Given the description of an element on the screen output the (x, y) to click on. 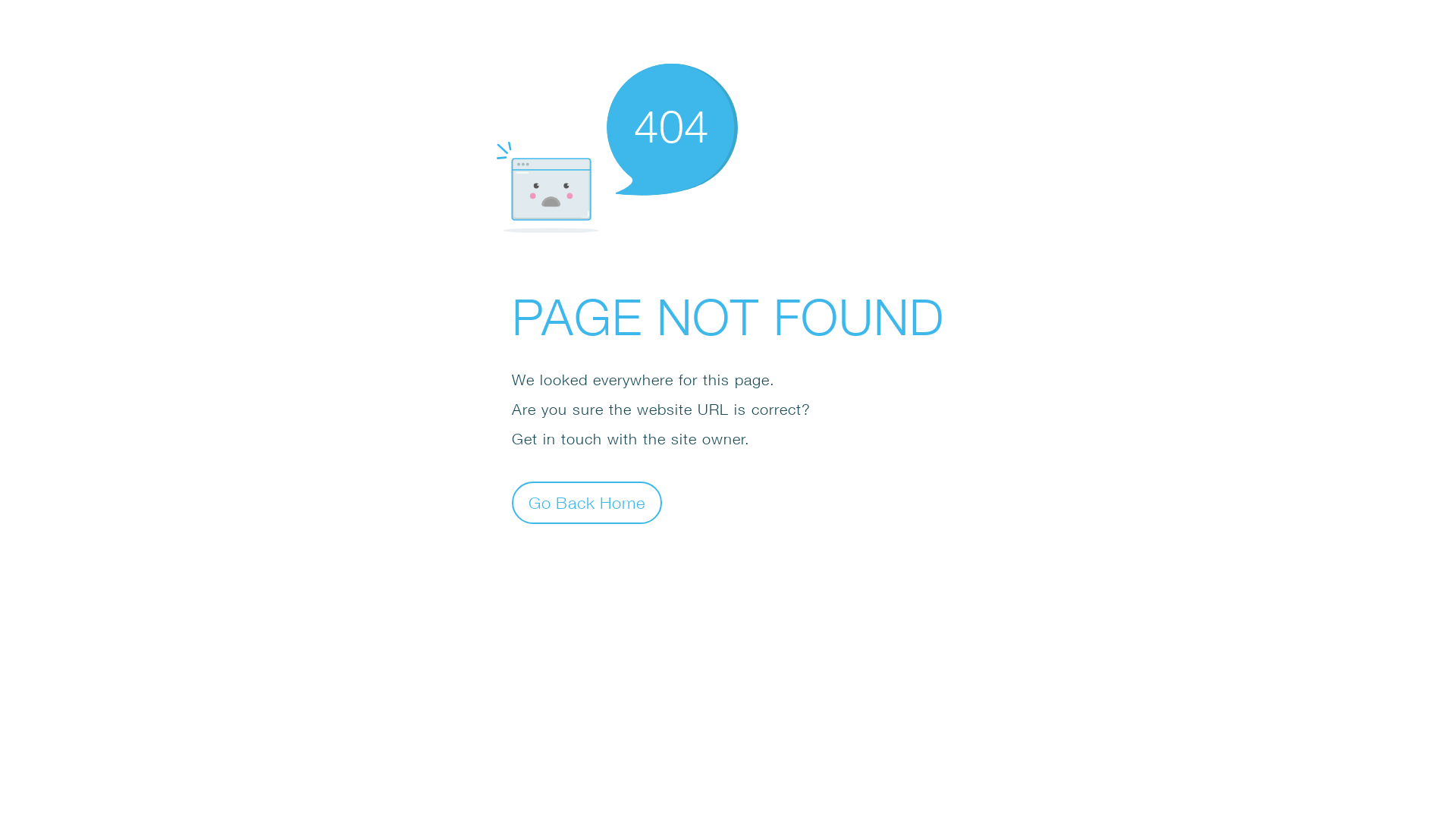
Go Back Home Element type: text (586, 502)
